Given the description of an element on the screen output the (x, y) to click on. 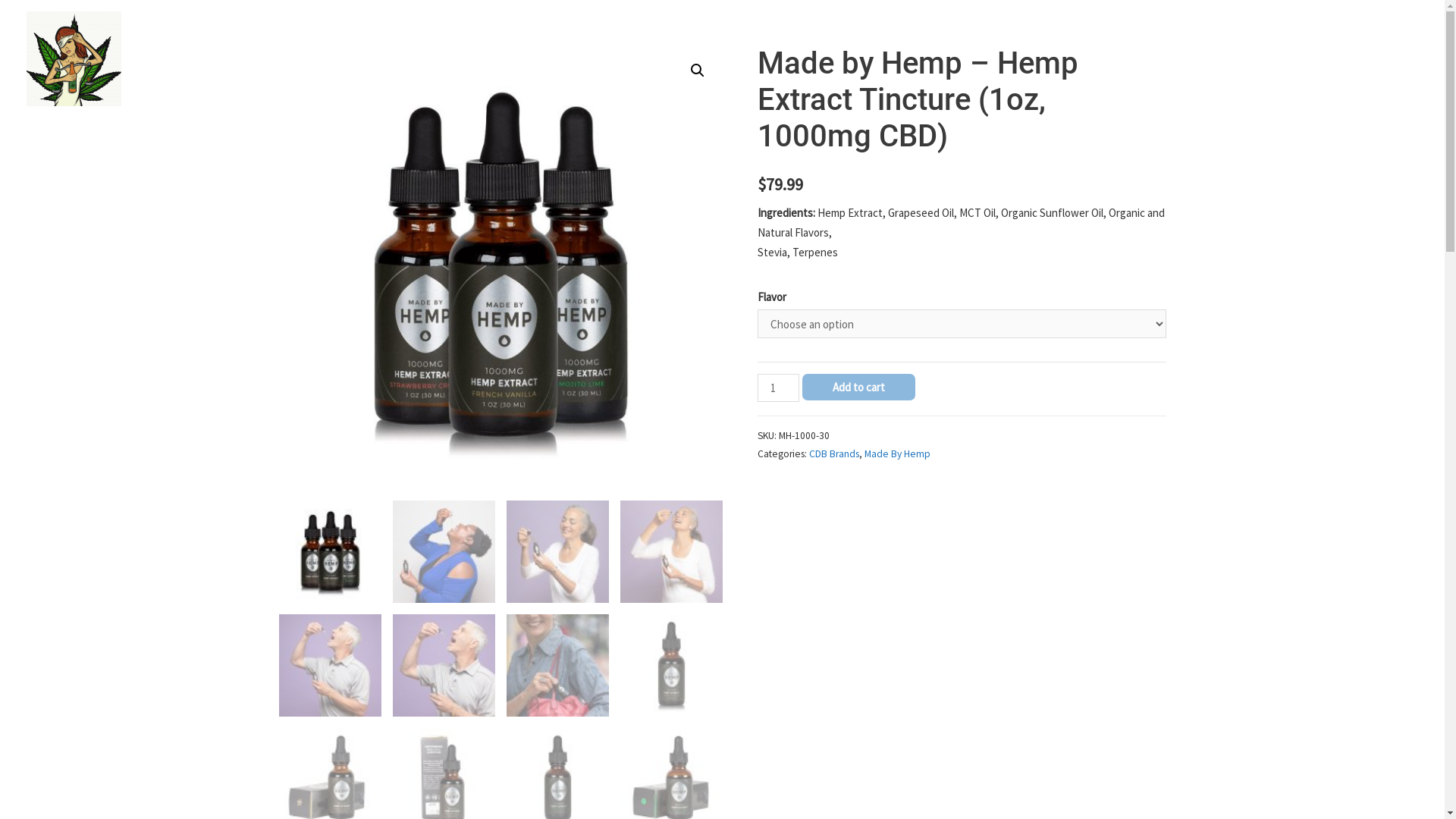
Qty Element type: hover (777, 387)
SHOP Element type: text (1314, 58)
Made By Hemp Element type: text (897, 453)
HOME Element type: text (1256, 58)
Add to cart Element type: text (858, 386)
CONTACT Element type: text (1382, 58)
CDB Brands Element type: text (834, 453)
MBH-Tincture Hemp Extract Element type: hover (500, 267)
